Given the description of an element on the screen output the (x, y) to click on. 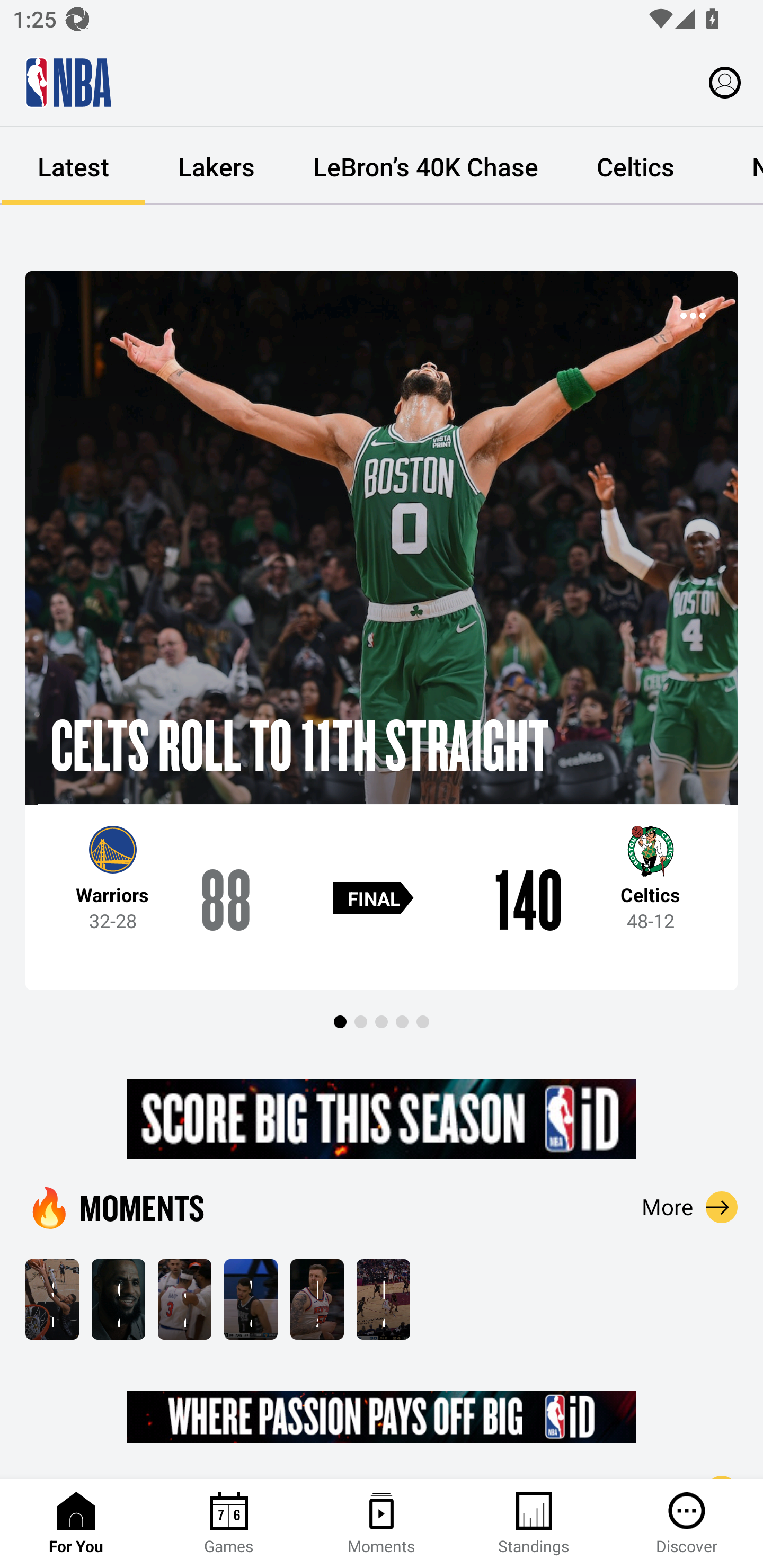
Profile (724, 81)
Lakers (215, 166)
LeBron’s 40K Chase (425, 166)
Celtics (634, 166)
More (689, 1207)
Sunday's Top Plays In 30 Seconds ⏱ (51, 1299)
Hartenstein Drops The Hammer 🔨 (317, 1299)
Games (228, 1523)
Moments (381, 1523)
Standings (533, 1523)
Discover (686, 1523)
